Given the description of an element on the screen output the (x, y) to click on. 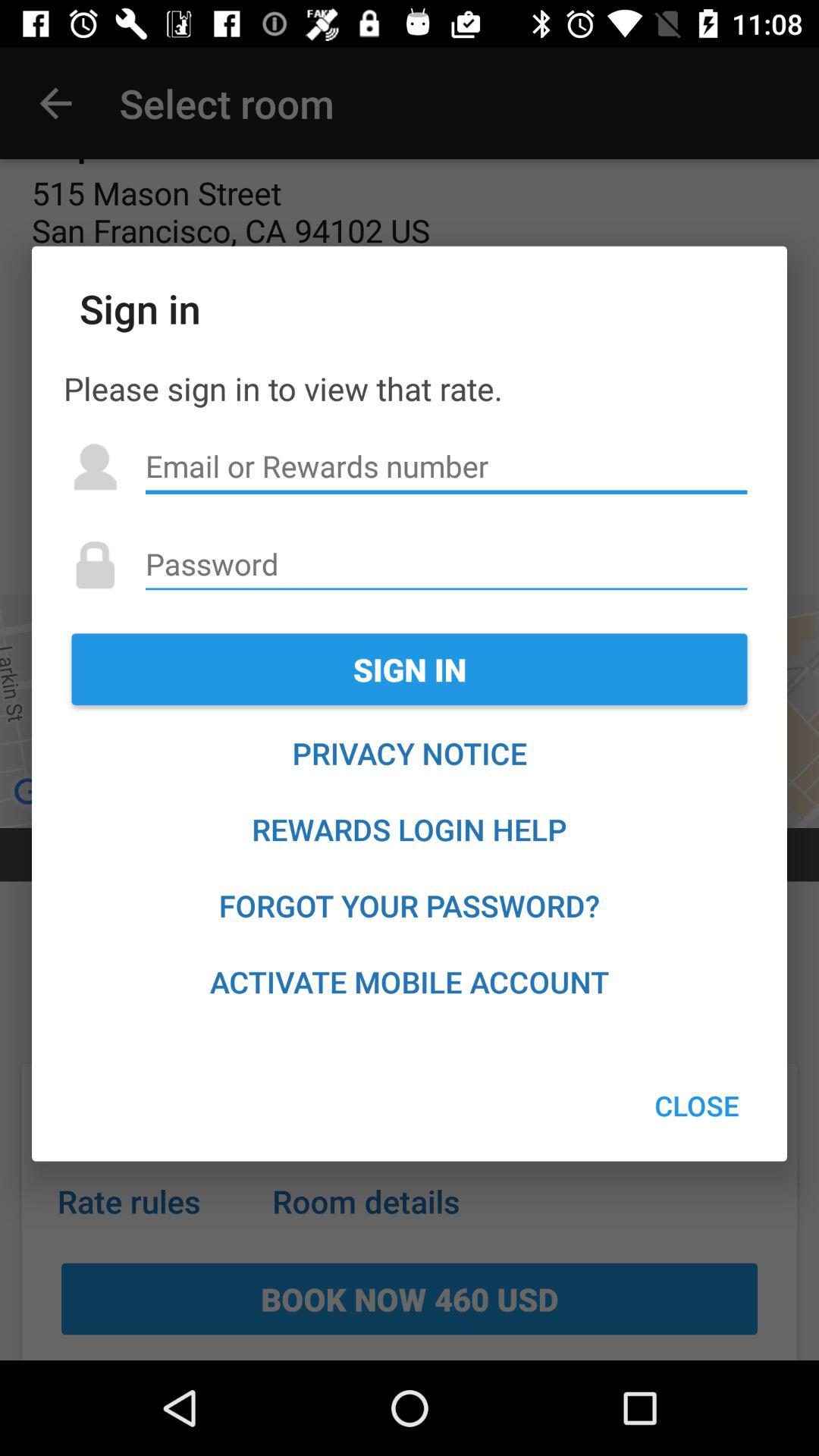
click icon above rewards login help icon (409, 753)
